Given the description of an element on the screen output the (x, y) to click on. 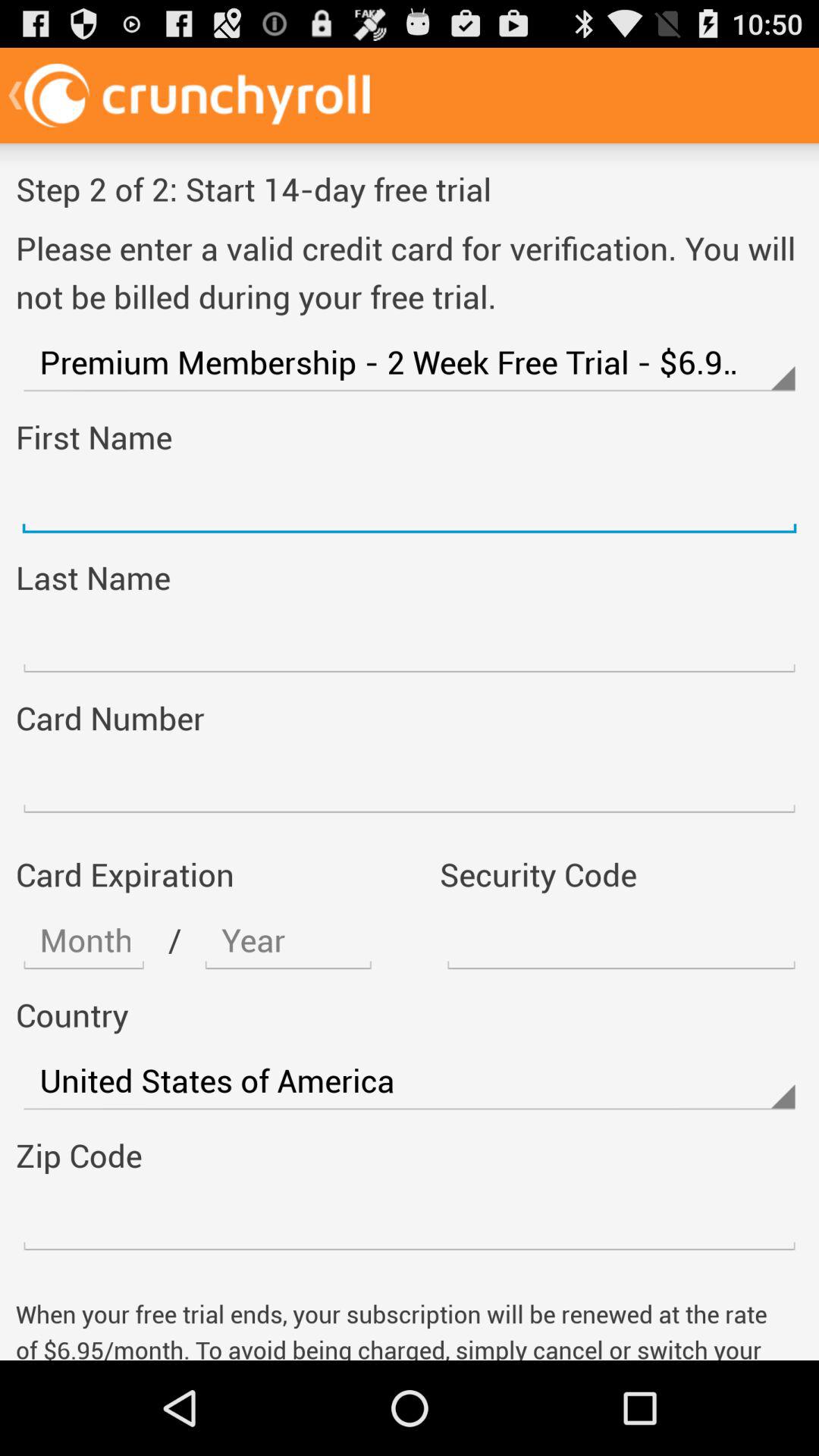
enter your first name (409, 502)
